Given the description of an element on the screen output the (x, y) to click on. 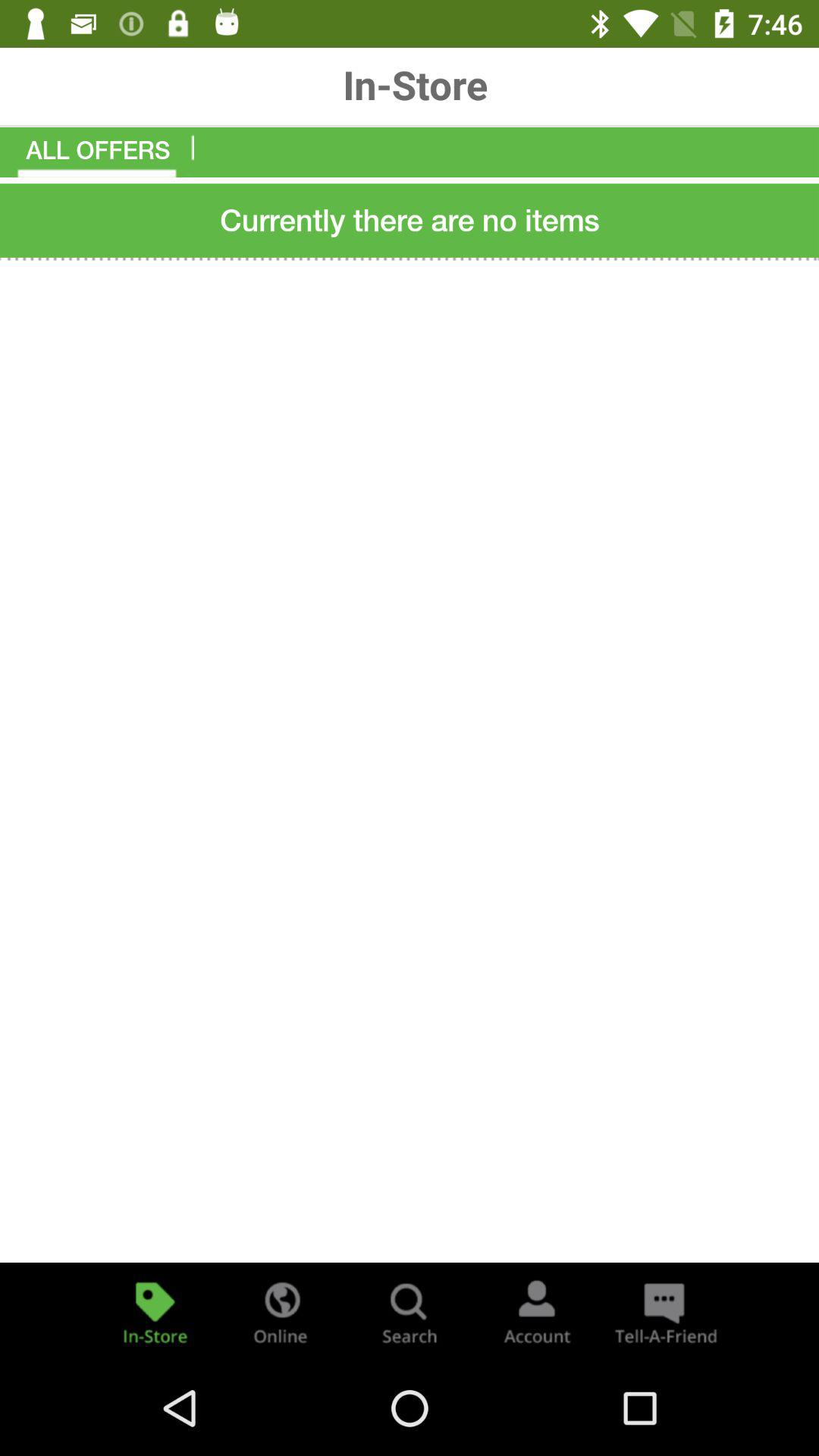
search toolbar (409, 1311)
